Given the description of an element on the screen output the (x, y) to click on. 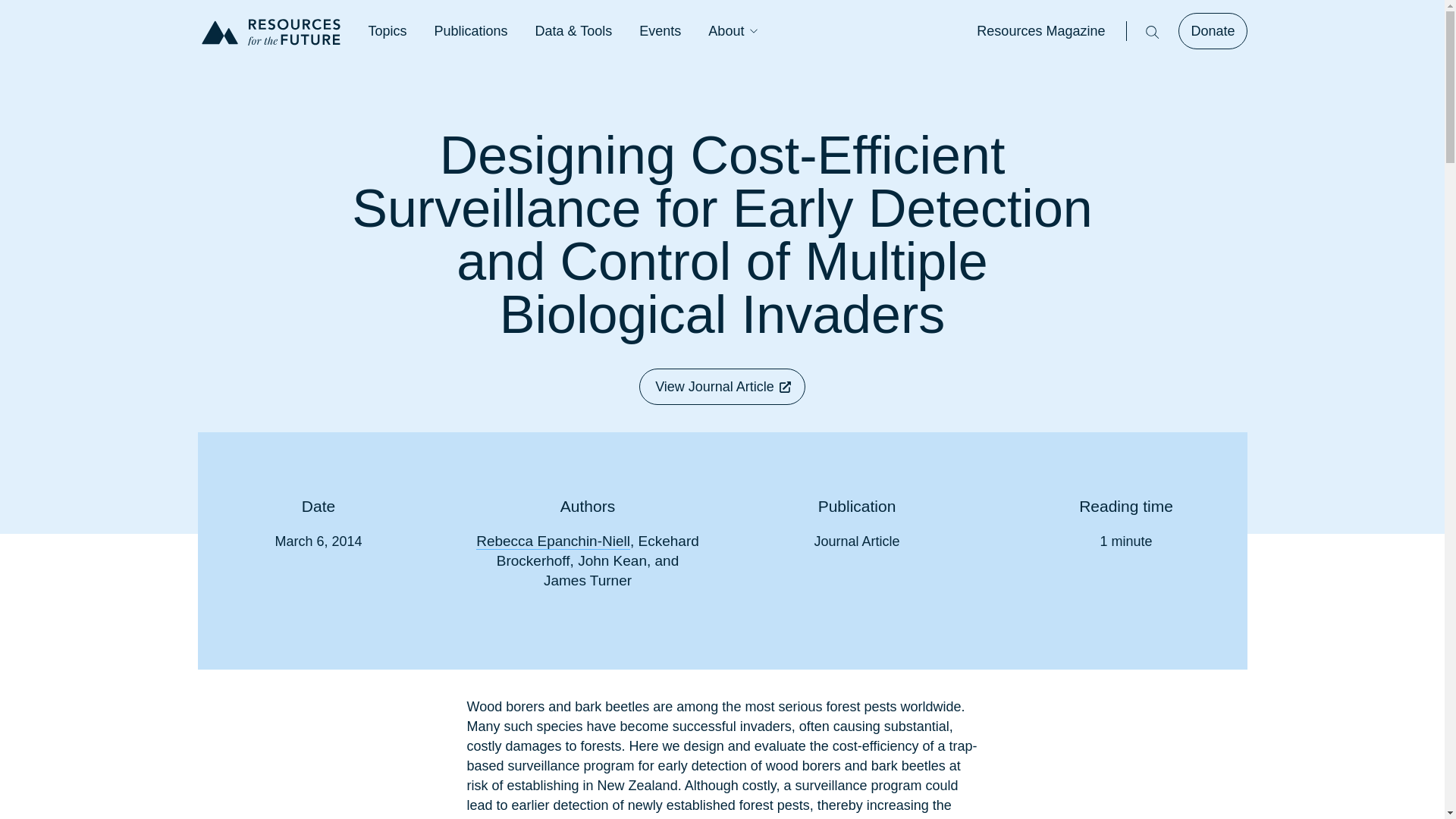
Events (660, 30)
Donate (1211, 31)
Topics (387, 30)
About (725, 30)
Resources Magazine (1040, 30)
Publications (470, 30)
View Journal Article (722, 386)
